Given the description of an element on the screen output the (x, y) to click on. 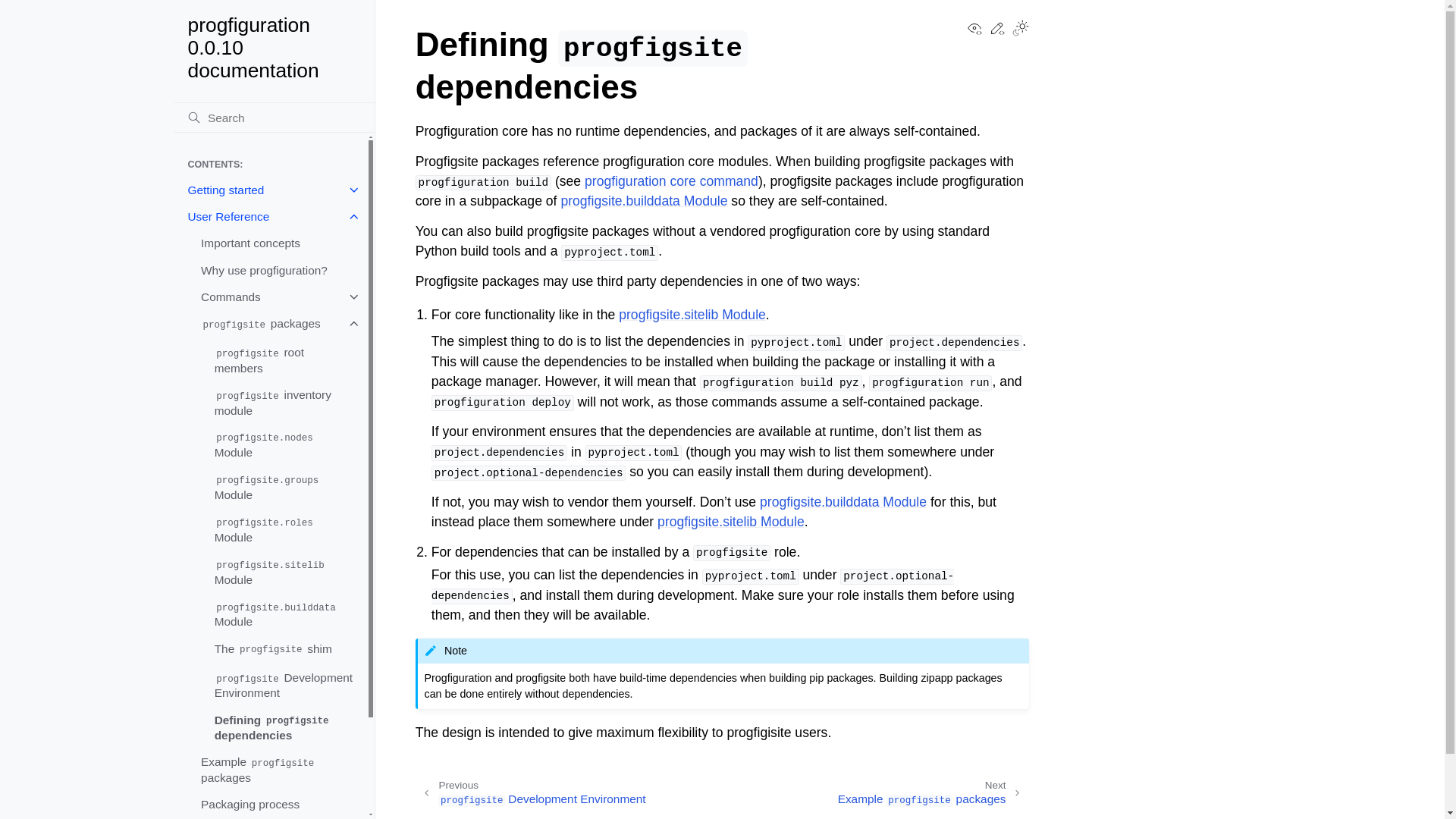
progfigsite.builddata Module (283, 613)
progfigsite.roles Module (283, 528)
Edit this page (997, 31)
Commands (276, 296)
The progfigsite shim (283, 649)
progfiguration 0.0.10 documentation (274, 47)
progfigsite packages (276, 324)
Defining progfigsite dependencies (283, 727)
View this page (974, 31)
progfigsite Development Environment (283, 685)
